Given the description of an element on the screen output the (x, y) to click on. 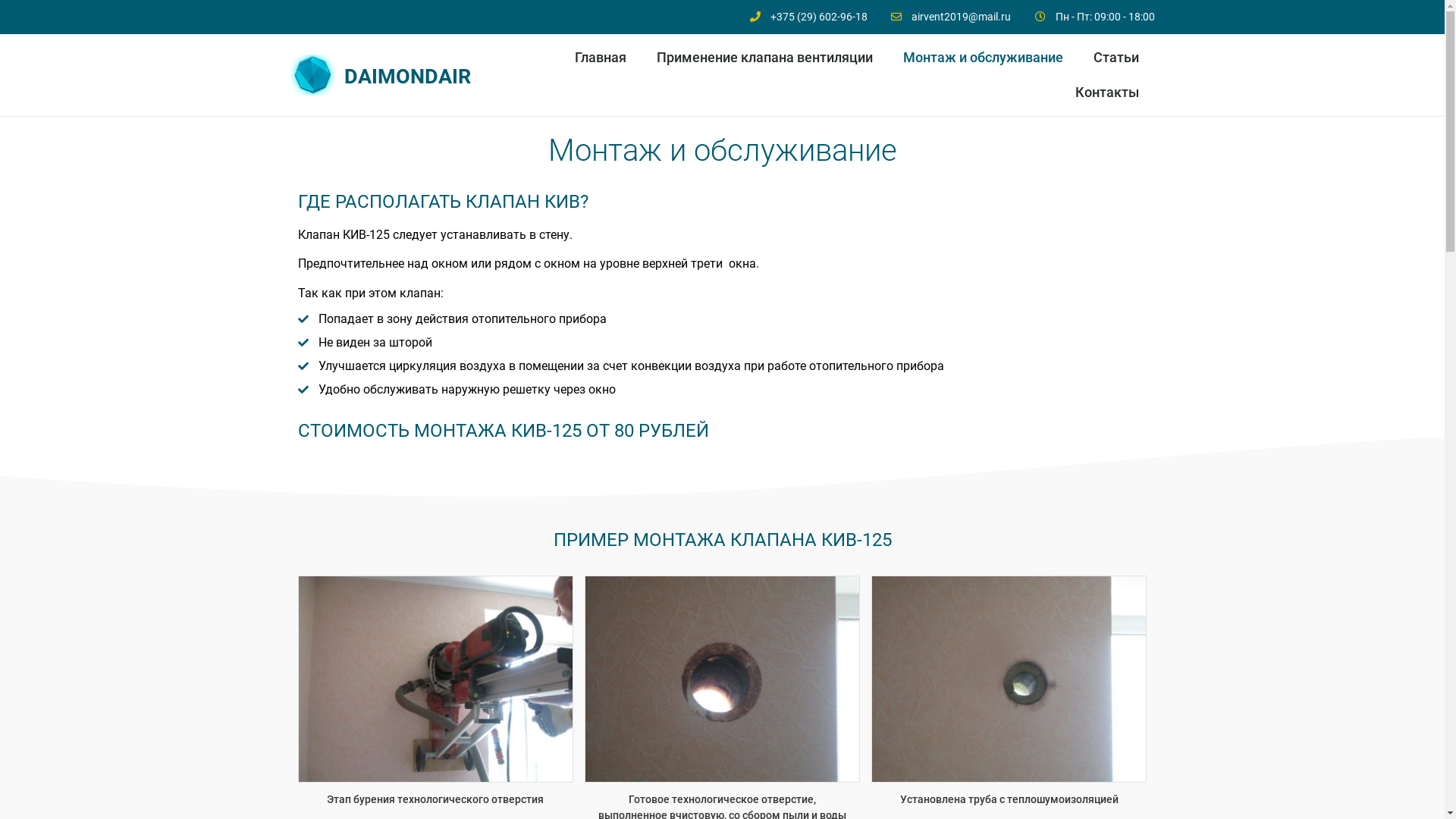
+375 (29) 602-96-18 Element type: text (806, 17)
airvent2019@mail.ru Element type: text (949, 17)
DAIMONDAIR Element type: text (407, 76)
